Given the description of an element on the screen output the (x, y) to click on. 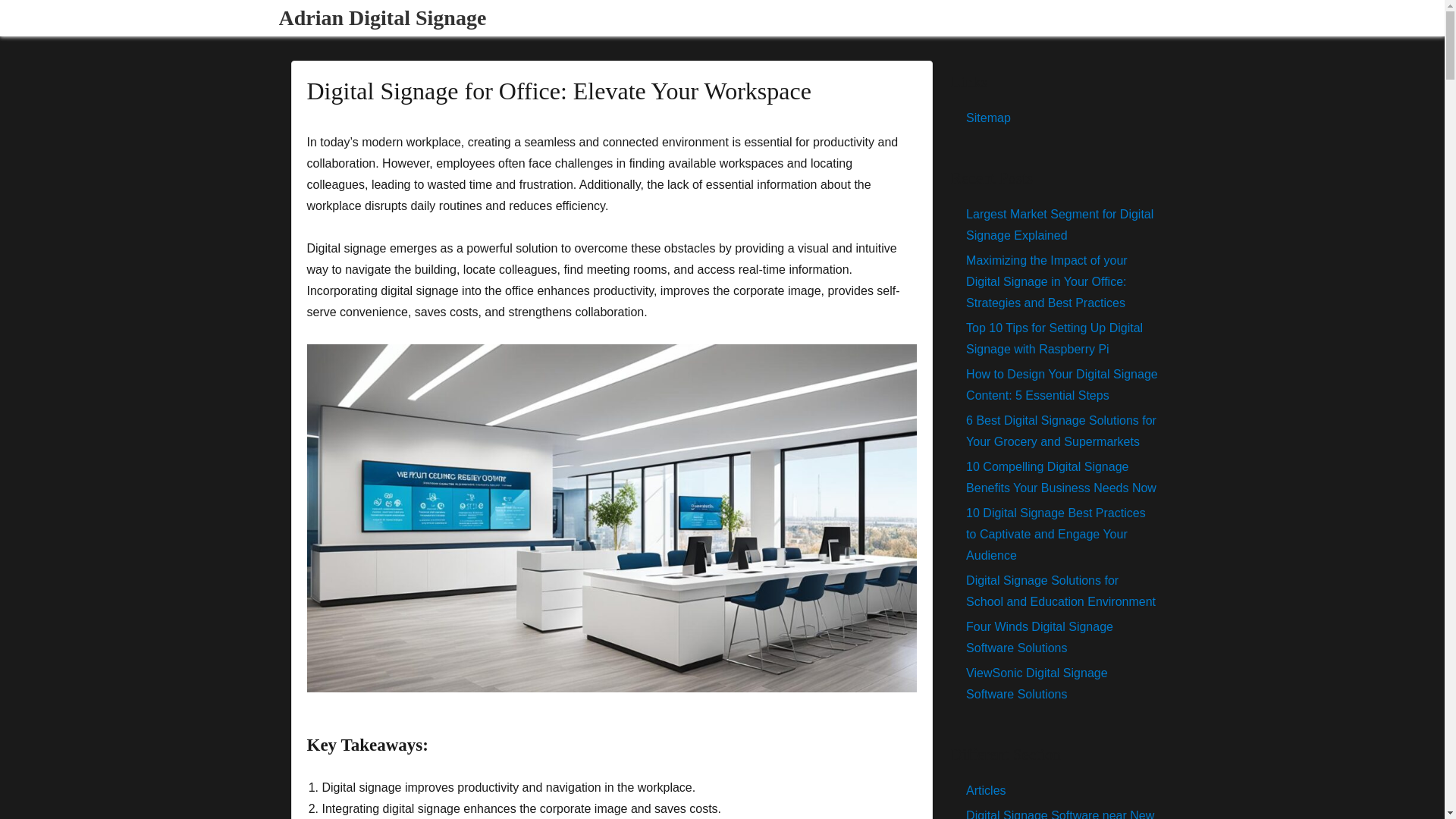
Top 10 Tips for Setting Up Digital Signage with Raspberry Pi (1054, 338)
Sitemap (988, 117)
Articles (986, 789)
Largest Market Segment for Digital Signage Explained (1059, 224)
ViewSonic Digital Signage Software Solutions (1036, 683)
Adrian Digital Signage (382, 17)
